Given the description of an element on the screen output the (x, y) to click on. 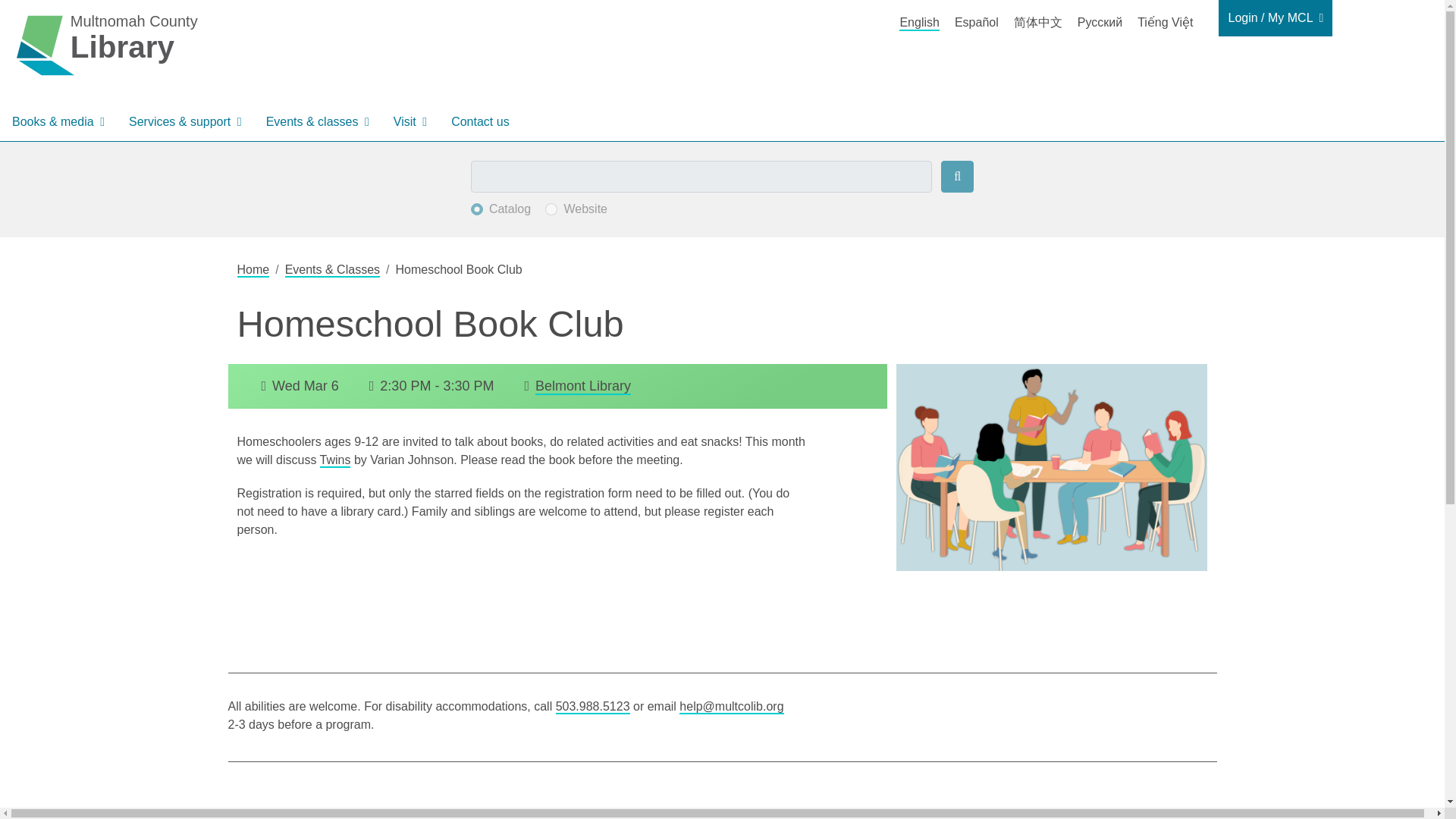
Multnomah County (106, 44)
catalog (476, 209)
English (919, 23)
website (550, 209)
